Given the description of an element on the screen output the (x, y) to click on. 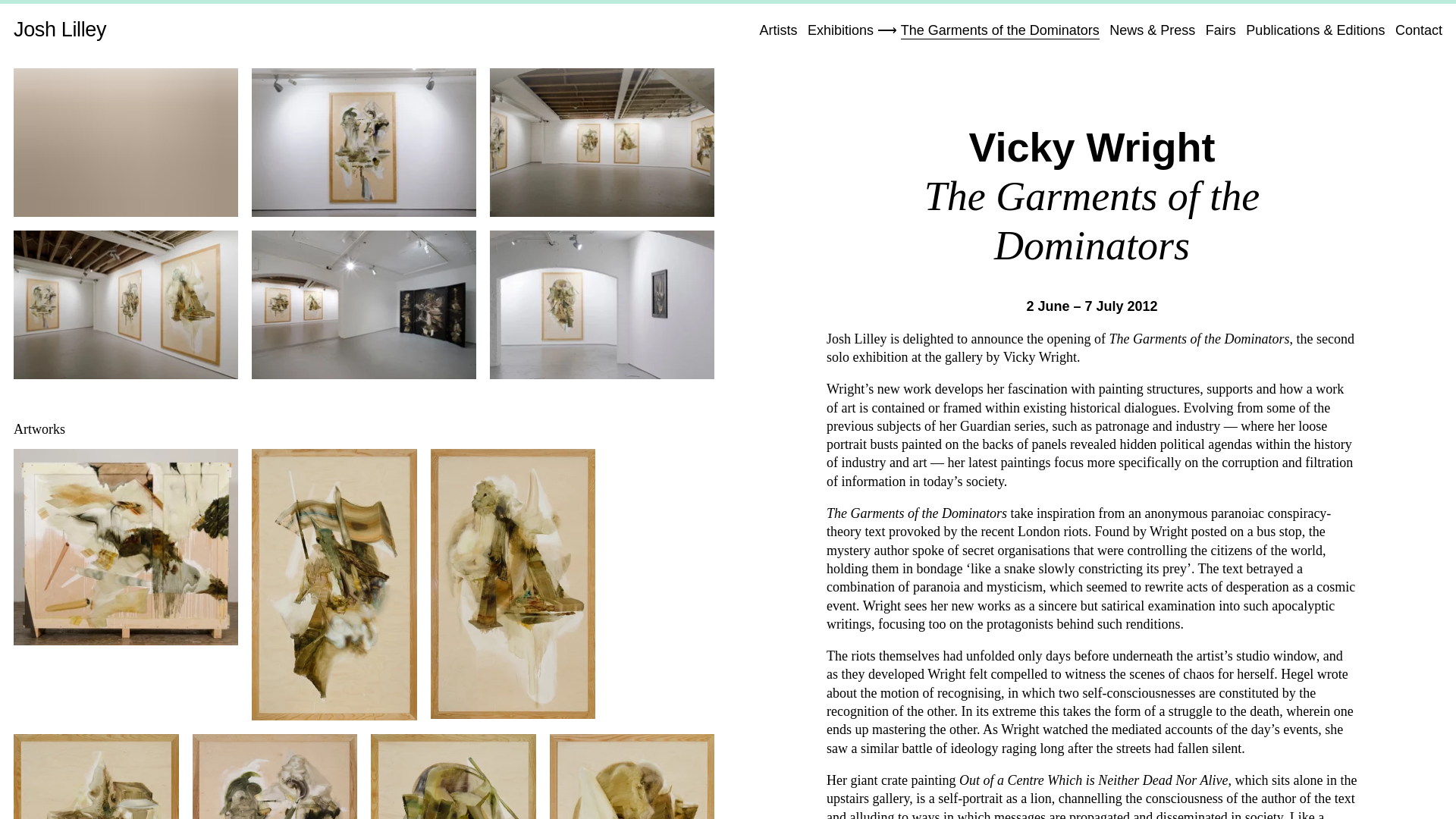
Fairs (1220, 29)
Contact (1418, 29)
Josh Lilley (59, 29)
Exhibitions (840, 29)
Artists (777, 29)
The Garments of the Dominators (1000, 29)
